Given the description of an element on the screen output the (x, y) to click on. 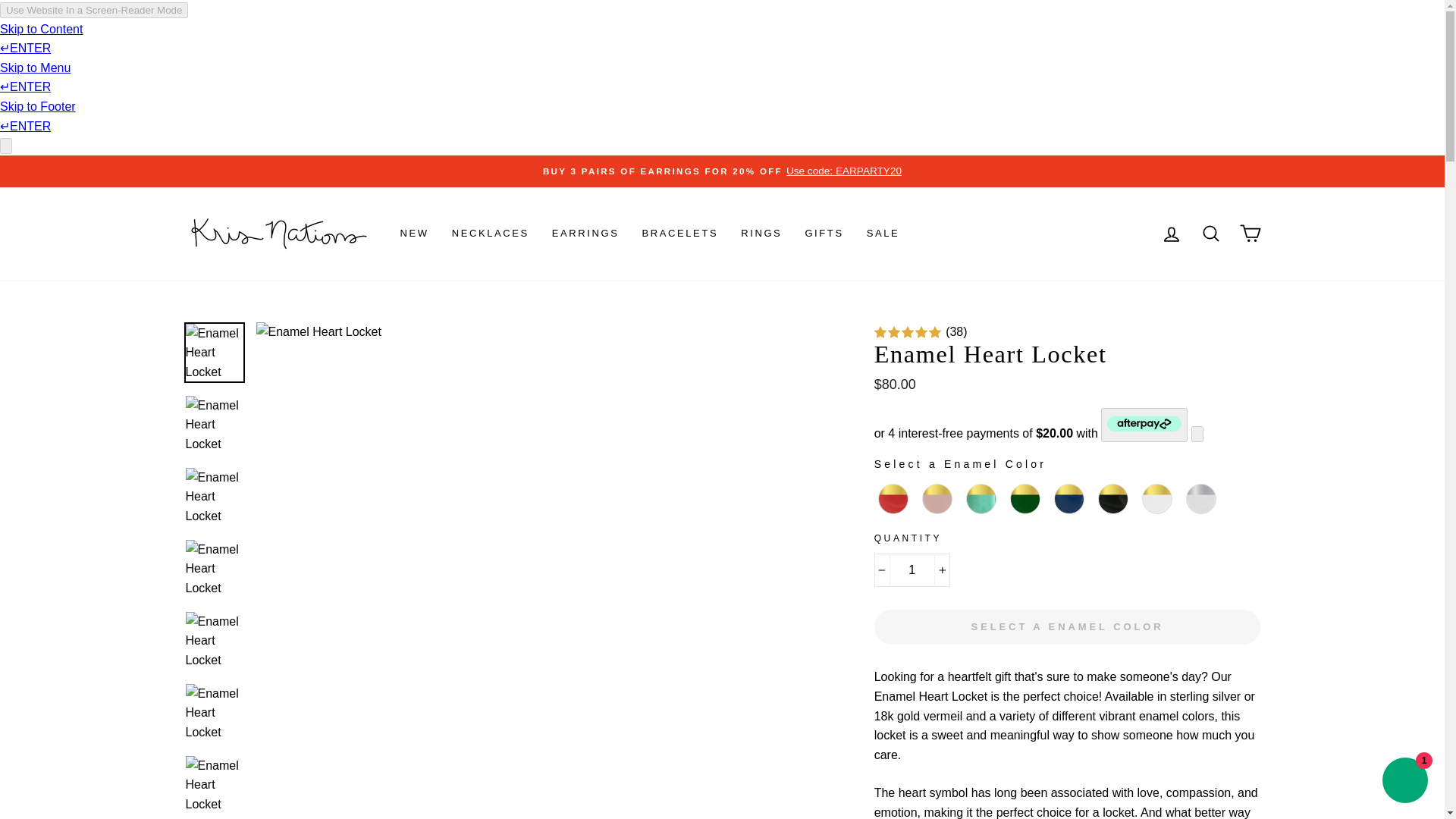
1 (912, 570)
